Given the description of an element on the screen output the (x, y) to click on. 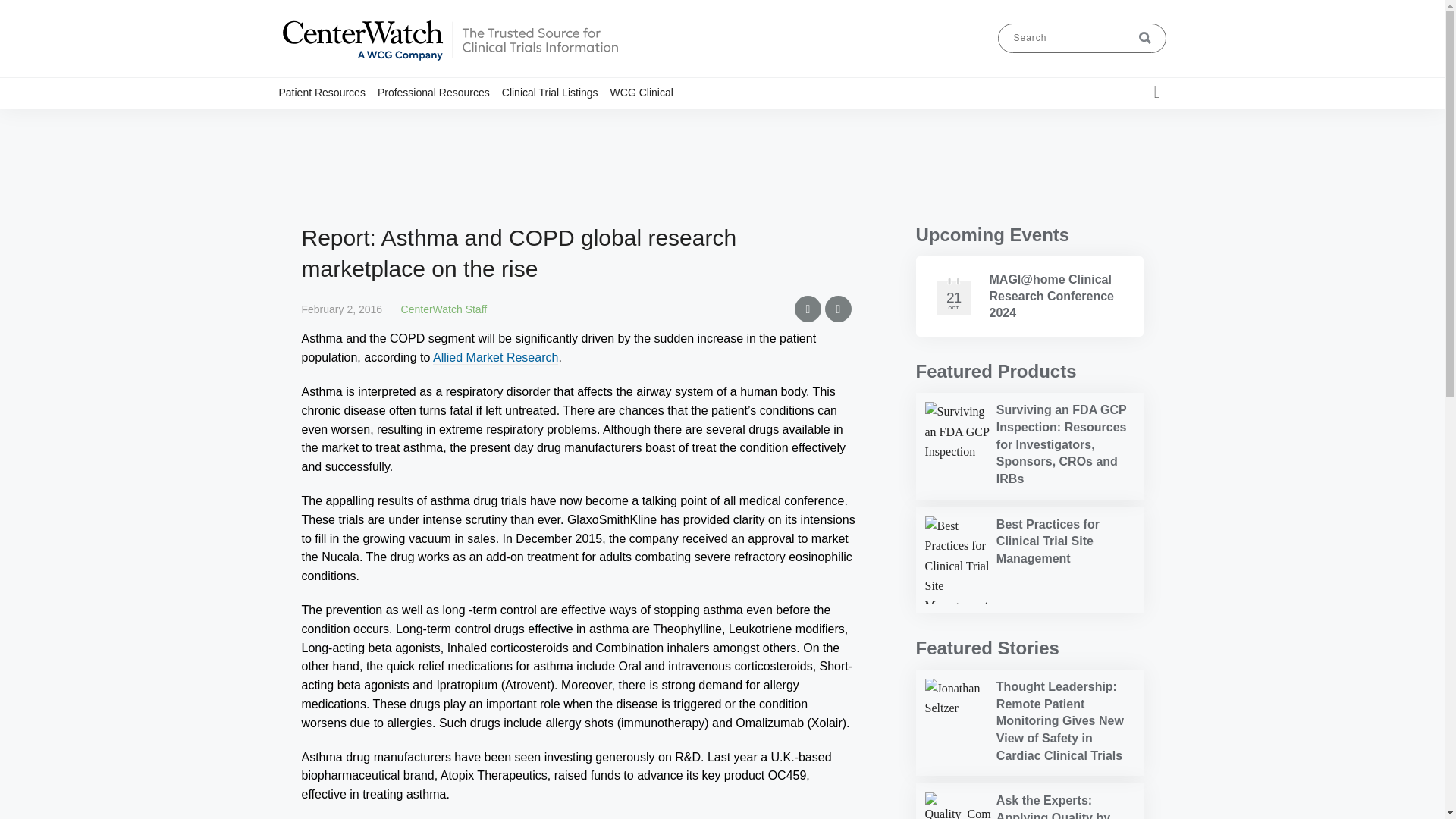
Become a Clinical Trial Volunteer (365, 127)
CenterWatch Logo (449, 60)
CenterWatch Staff (444, 309)
FDA Approved Drugs (468, 121)
WCG Clinical (647, 91)
Submit (1144, 37)
FDA Approved Drugs (372, 121)
Newsletters (484, 121)
Clinical Trial Listings (556, 91)
Books (477, 121)
eLearning (480, 121)
Events (483, 121)
Patient Resources (328, 91)
Training Guides (472, 121)
White Papers (487, 121)
